Given the description of an element on the screen output the (x, y) to click on. 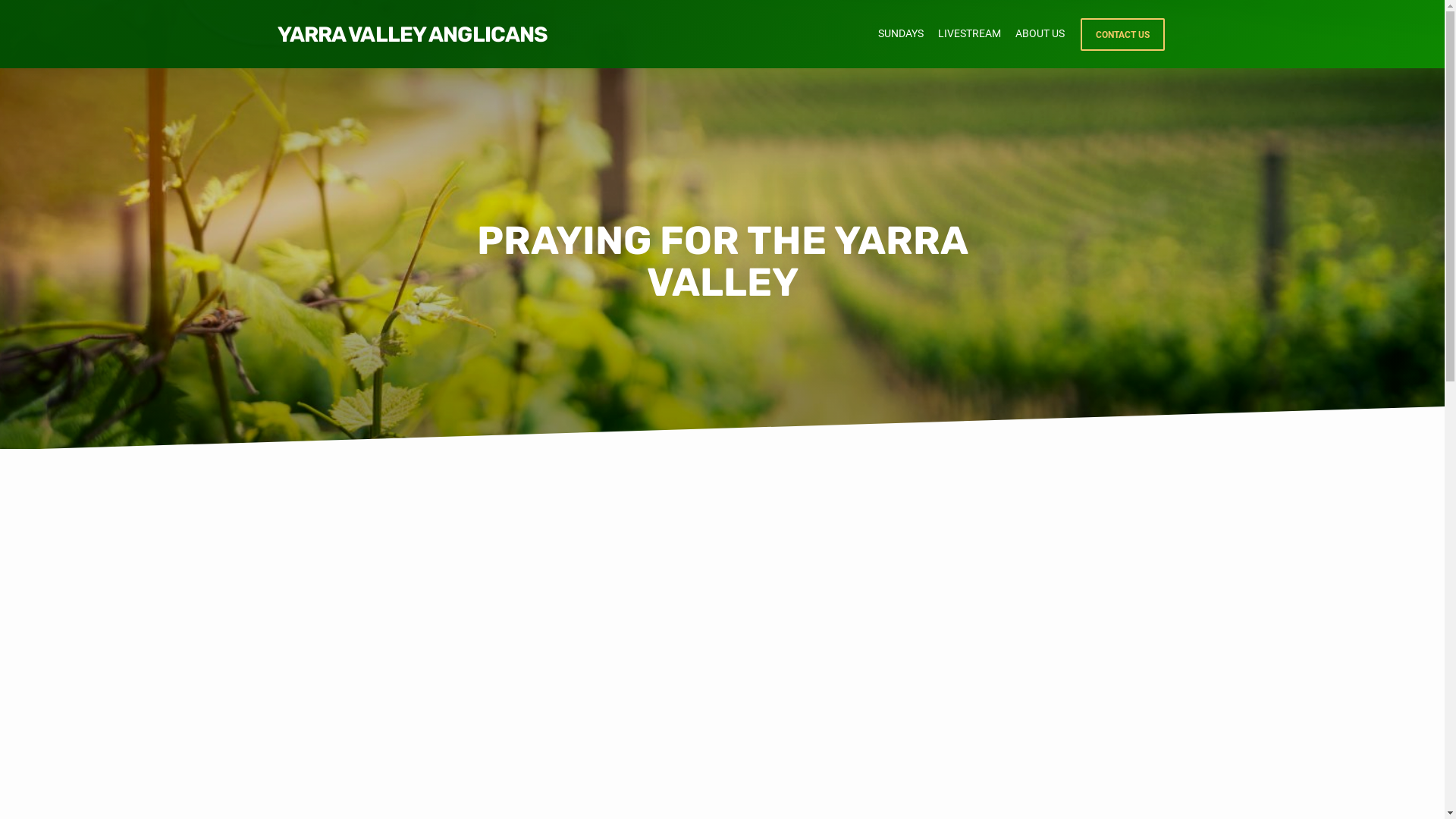
ABOUT US Element type: text (1038, 42)
YARRA VALLEY ANGLICANS Element type: text (412, 34)
LIVESTREAM Element type: text (968, 42)
CONTACT US Element type: text (1121, 34)
SUNDAYS Element type: text (900, 42)
